Given the description of an element on the screen output the (x, y) to click on. 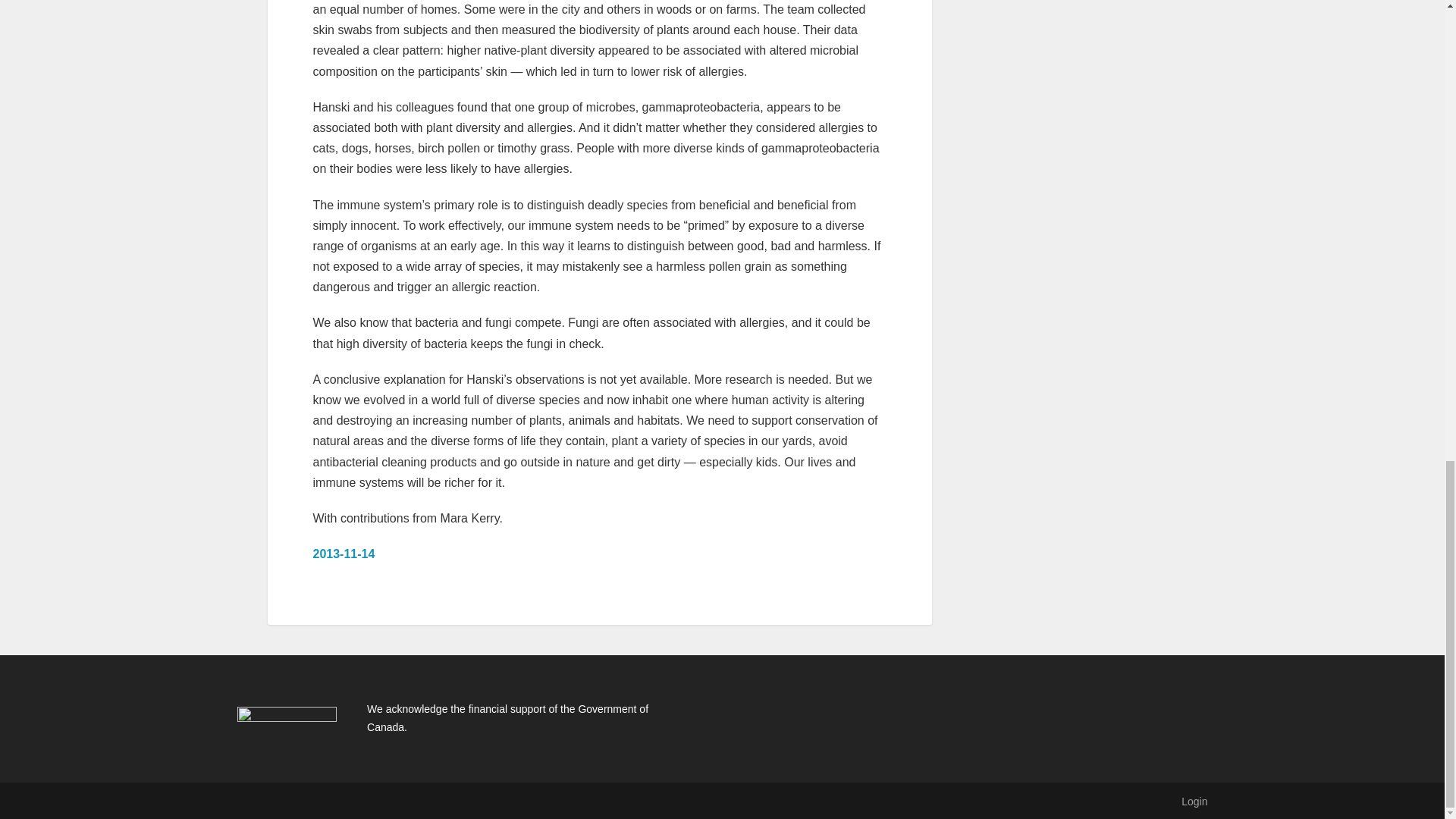
Premium WordPress Themes (336, 800)
WordPress (467, 800)
Elegant Themes (336, 800)
2013-11-14 (343, 553)
Login (1193, 801)
